Given the description of an element on the screen output the (x, y) to click on. 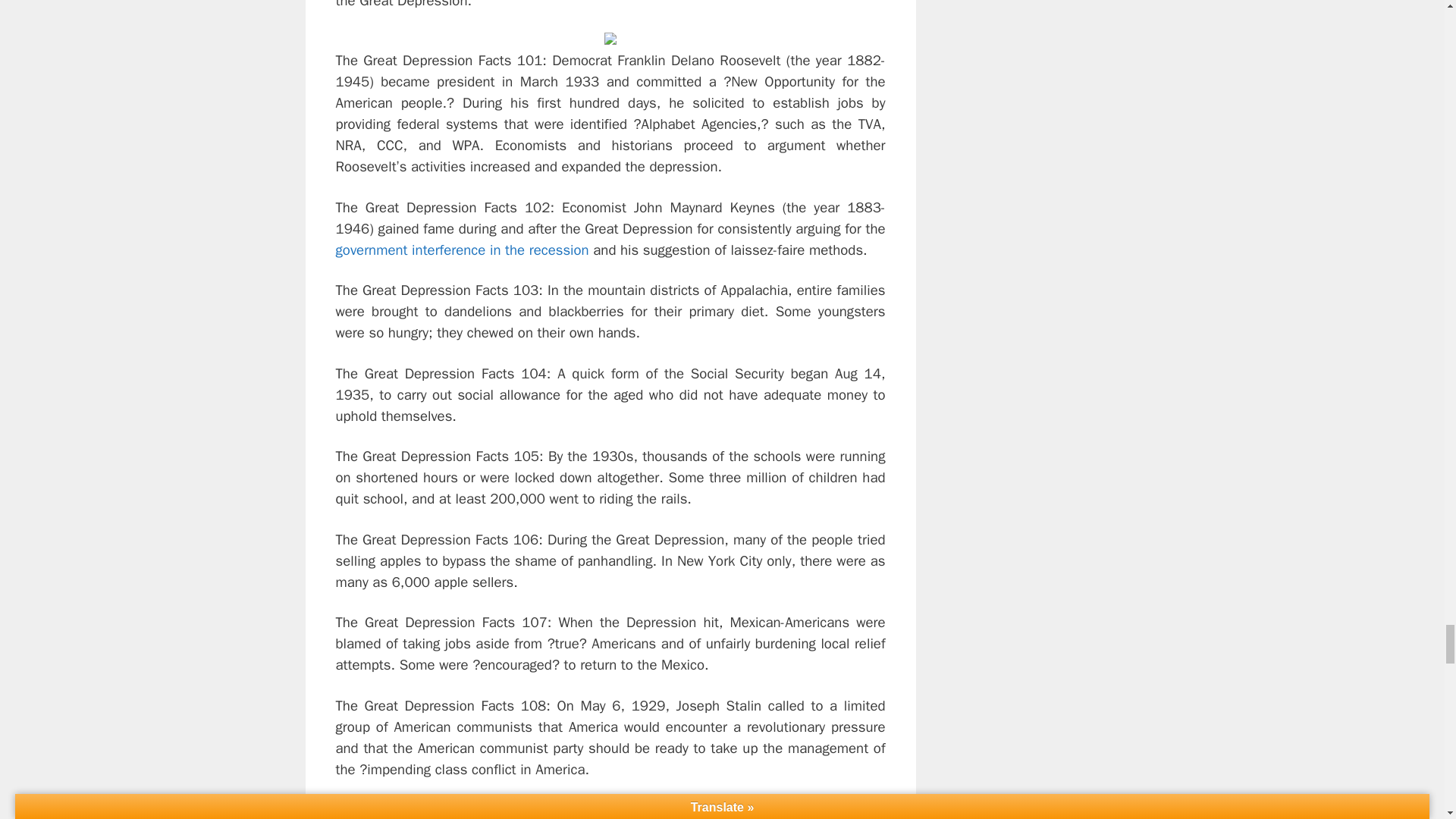
government interference in the recession (461, 249)
